Given the description of an element on the screen output the (x, y) to click on. 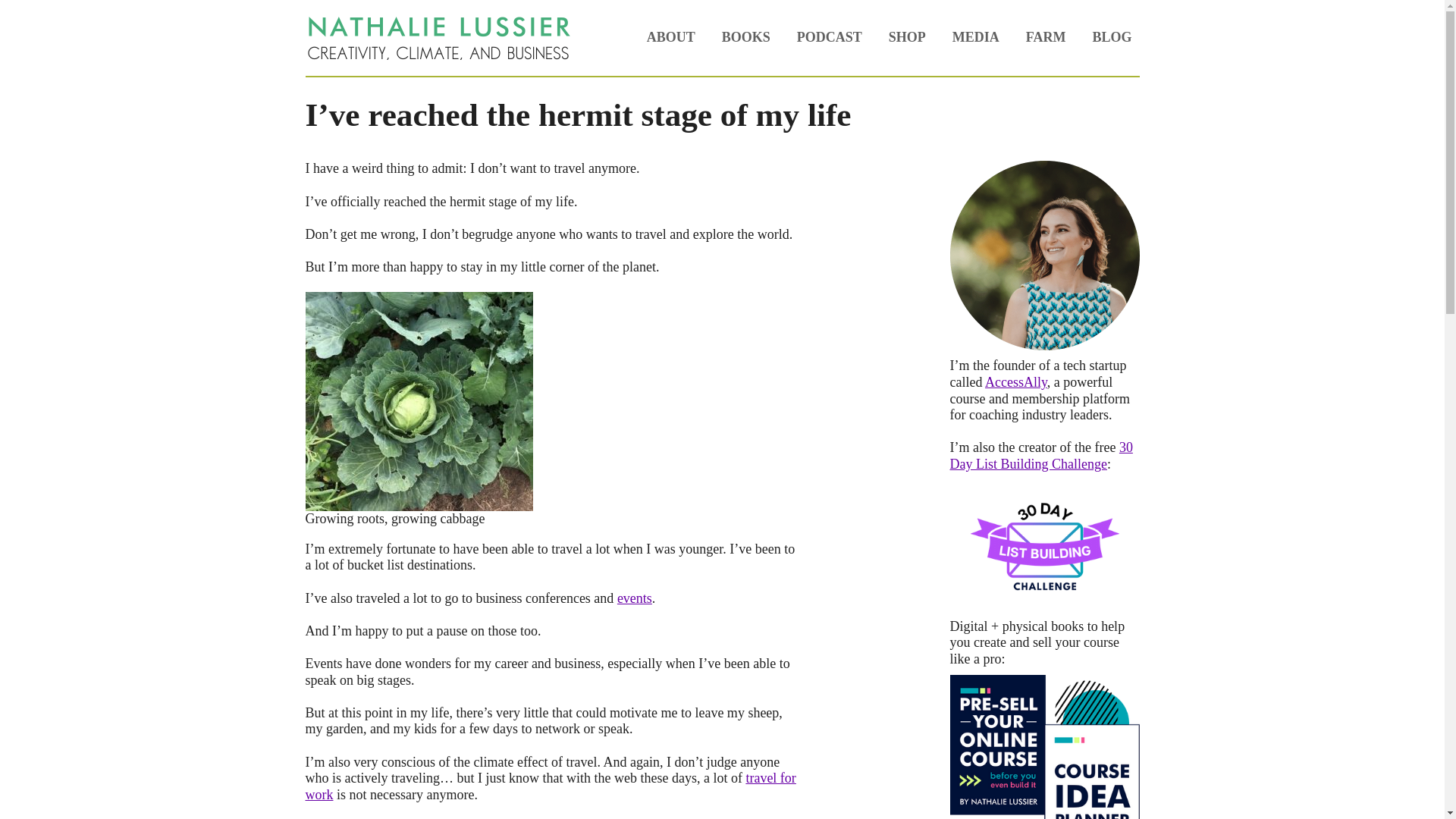
SHOP (906, 38)
MEDIA (975, 38)
events (634, 598)
BOOKS (745, 38)
FARM (1045, 38)
30 Day List Building Challenge (1040, 455)
AccessAlly (1015, 381)
PODCAST (829, 38)
ABOUT (671, 38)
travel for work (549, 786)
BLOG (1111, 38)
